Given the description of an element on the screen output the (x, y) to click on. 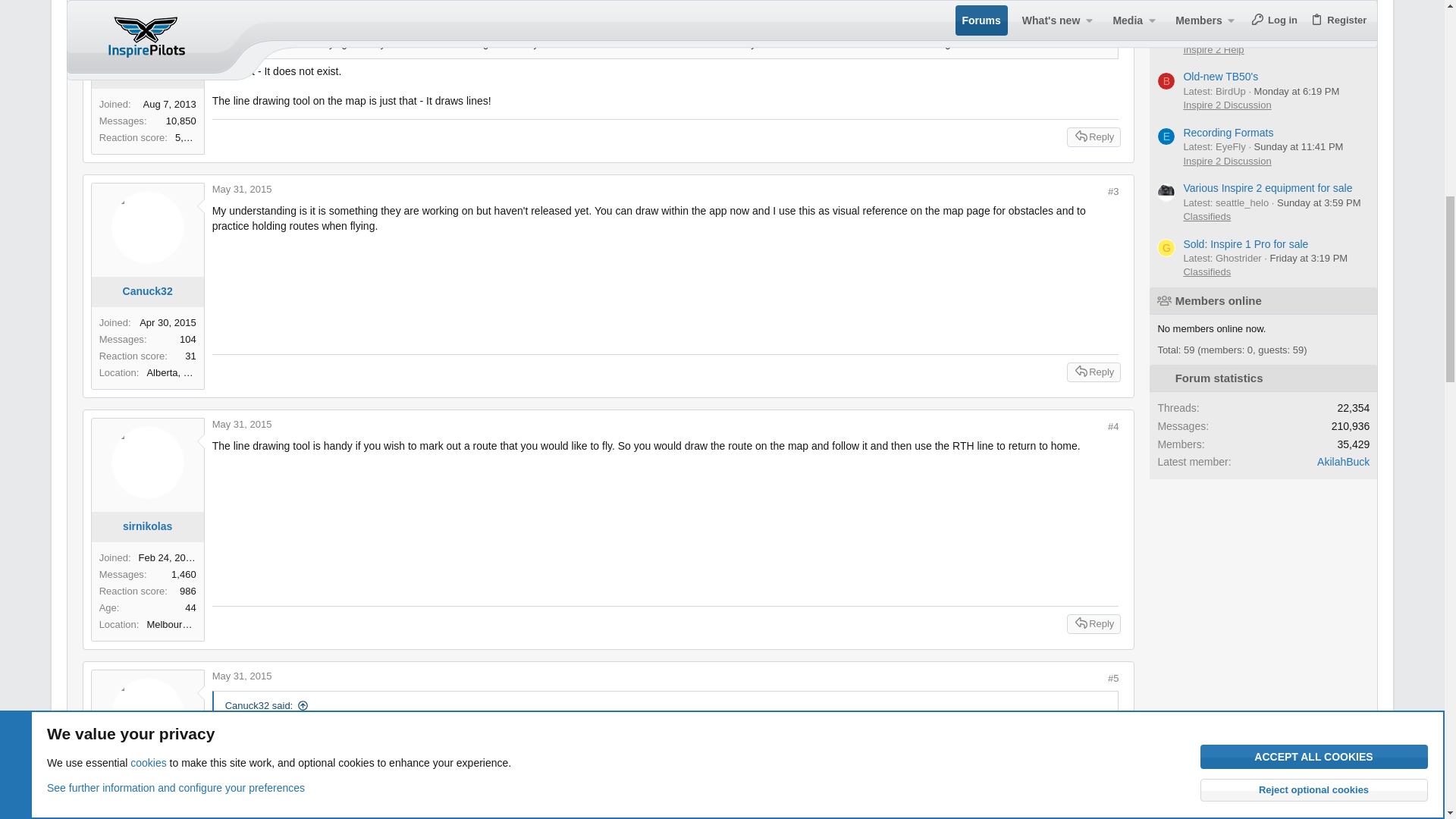
Reply, quoting this message (1094, 372)
May 31, 2015 at 9:57 AM (242, 188)
Alberta, Canada (171, 372)
Reply, quoting this message (1094, 137)
Melbourne Australia (171, 624)
May 31, 2015 at 10:16 AM (242, 423)
